Given the description of an element on the screen output the (x, y) to click on. 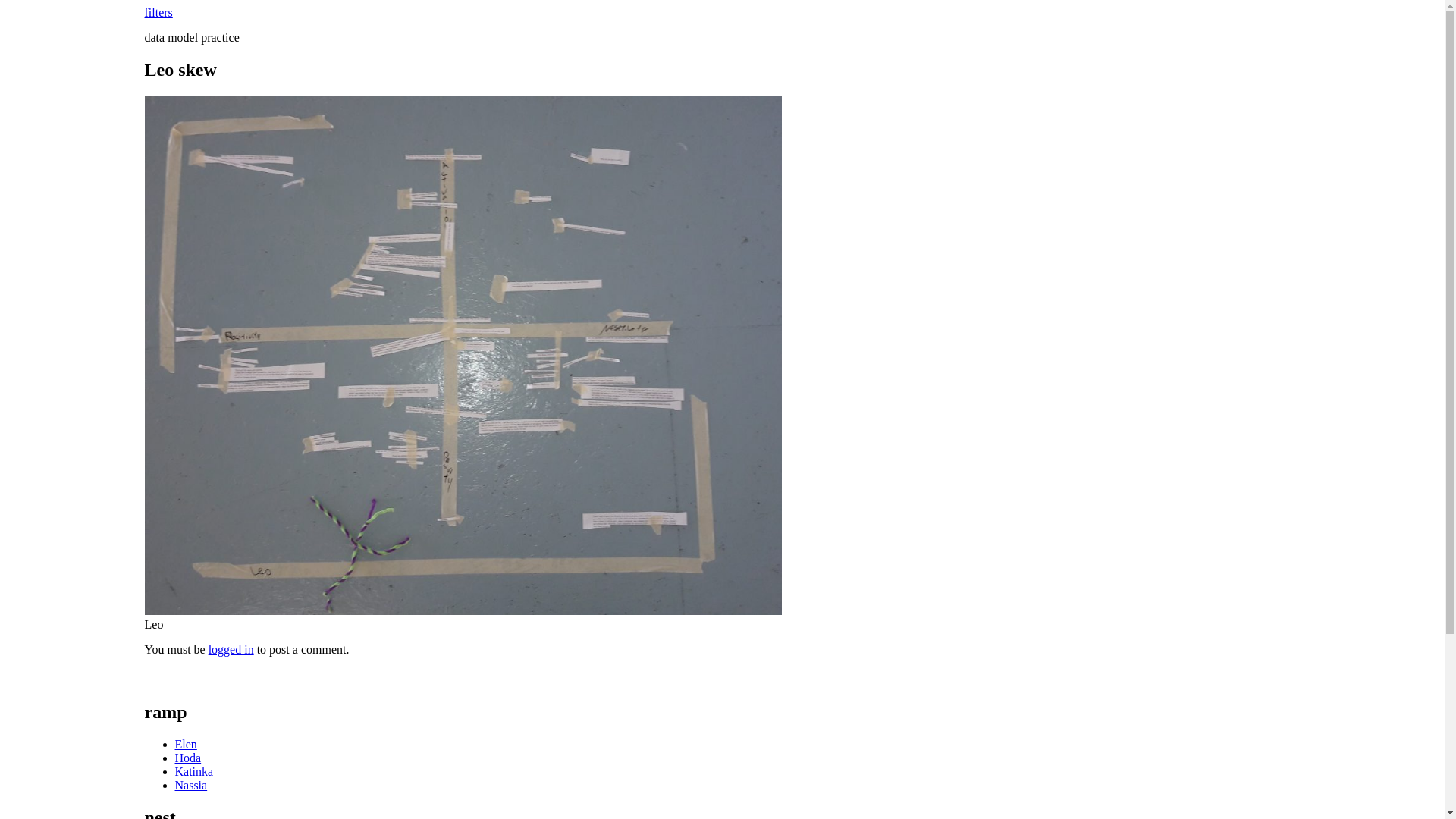
Nassia Element type: text (190, 784)
Katinka Element type: text (193, 771)
Hoda Element type: text (187, 757)
logged in Element type: text (231, 649)
Elen Element type: text (185, 743)
filters Element type: text (158, 12)
